Given the description of an element on the screen output the (x, y) to click on. 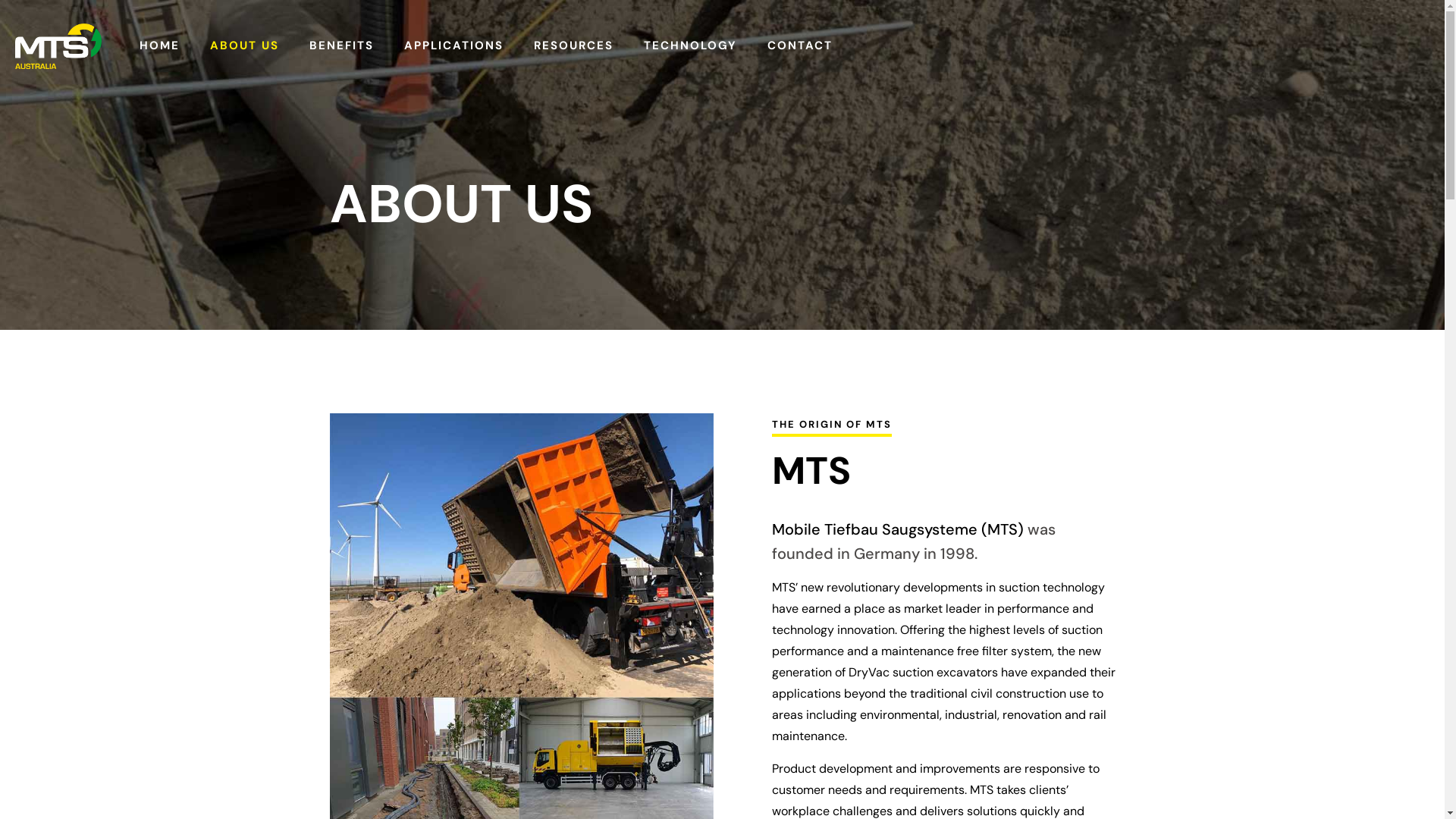
RESOURCES Element type: text (573, 45)
HOME Element type: text (159, 45)
Mobile Tiefbau Saugsysteme (MTS) Element type: text (897, 529)
ABOUT US Element type: text (244, 45)
TECHNOLOGY Element type: text (690, 45)
APPLICATIONS Element type: text (453, 45)
BENEFITS Element type: text (341, 45)
MTS Australia Element type: hover (58, 45)
CONTACT Element type: text (799, 45)
